Given the description of an element on the screen output the (x, y) to click on. 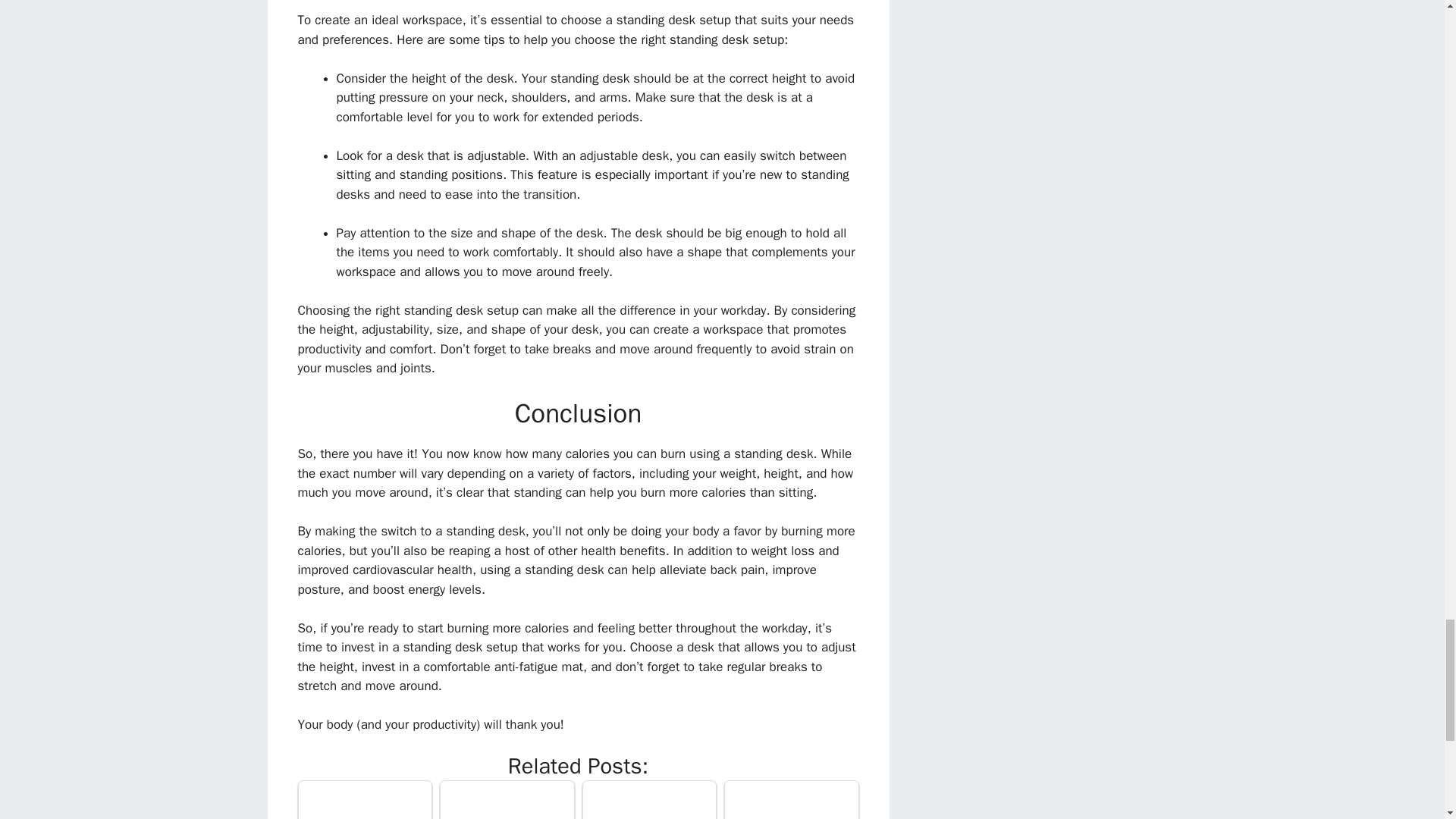
Standing Desk Vs Sitting Desk: Which One Is Right For You? (364, 800)
Standing Desk Vs Sitting Desk: Which One Is Right For You? (365, 800)
